Given the description of an element on the screen output the (x, y) to click on. 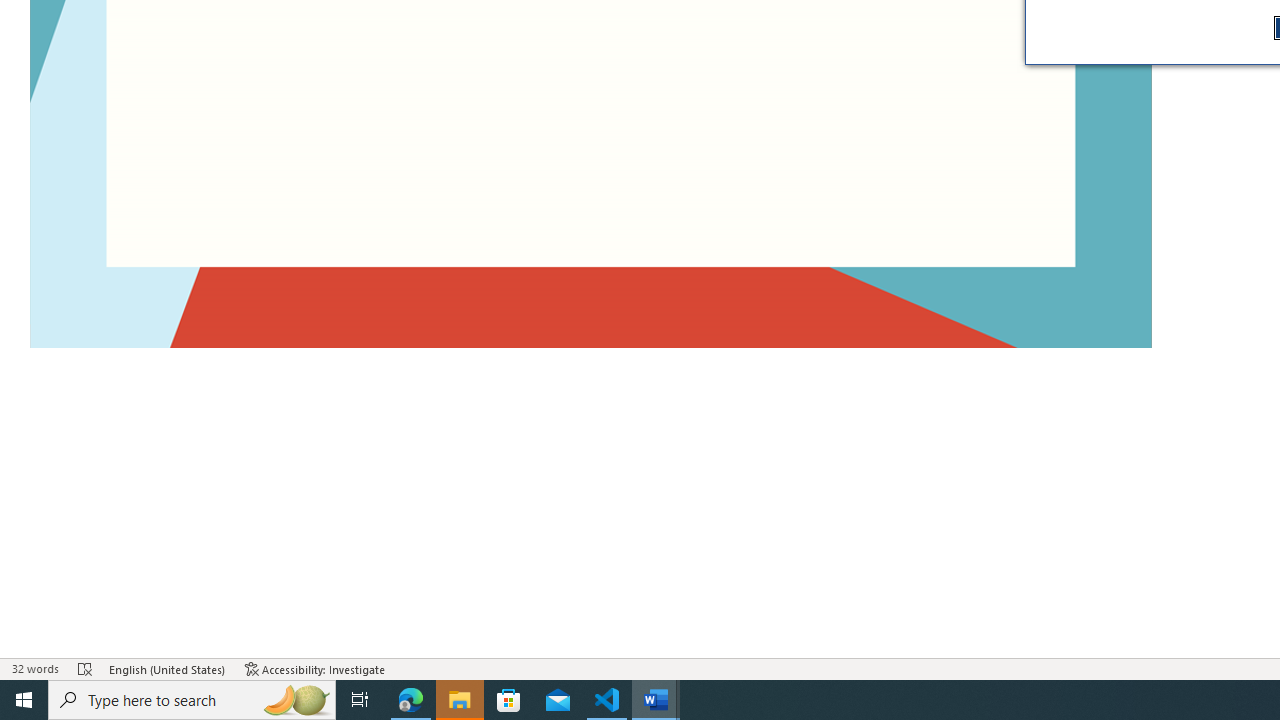
Microsoft Edge - 1 running window (411, 699)
Word Count 32 words (34, 668)
Word - 2 running windows (656, 699)
